Given the description of an element on the screen output the (x, y) to click on. 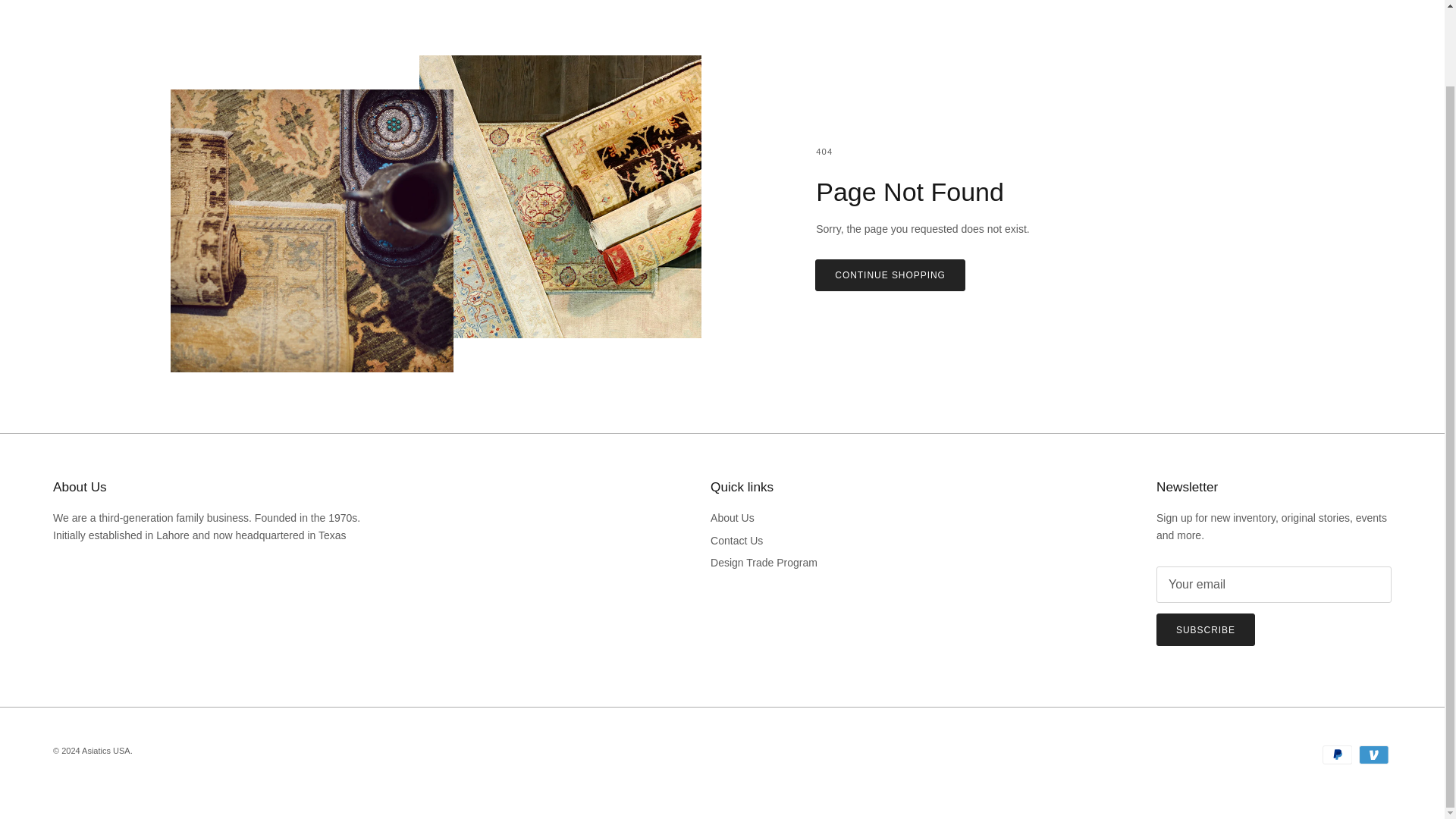
CONTINUE SHOPPING (890, 275)
Venmo (1373, 754)
Contact Us (736, 540)
Asiatics USA (106, 750)
PayPal (1337, 754)
Design Trade Program (763, 562)
About Us (732, 517)
SUBSCRIBE (1205, 629)
